Given the description of an element on the screen output the (x, y) to click on. 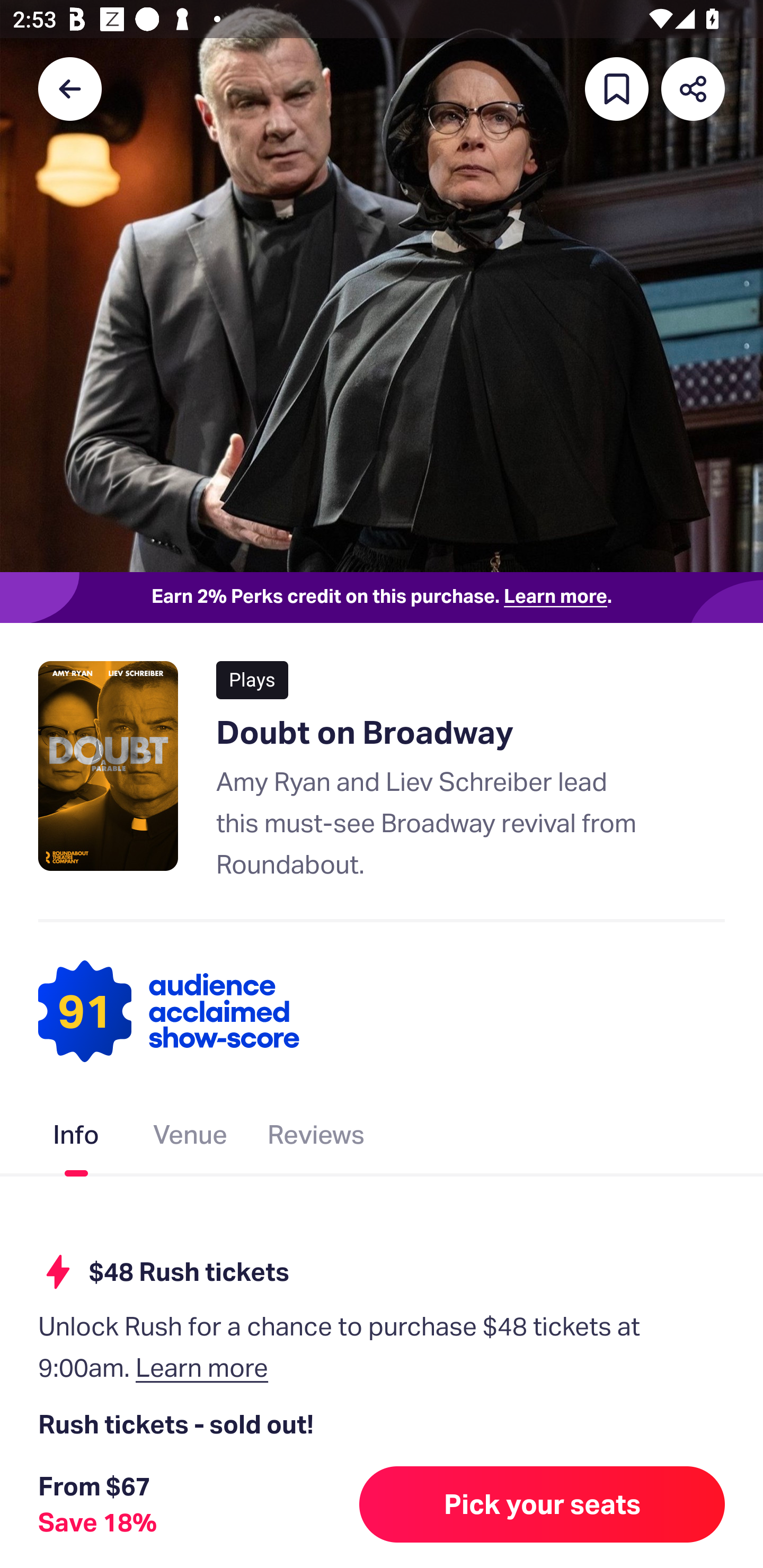
Earn 2% Perks credit on this purchase. Learn more. (381, 597)
Venue (190, 1138)
Reviews (315, 1138)
Pick your seats (541, 1504)
Unlock now (328, 1514)
